Given the description of an element on the screen output the (x, y) to click on. 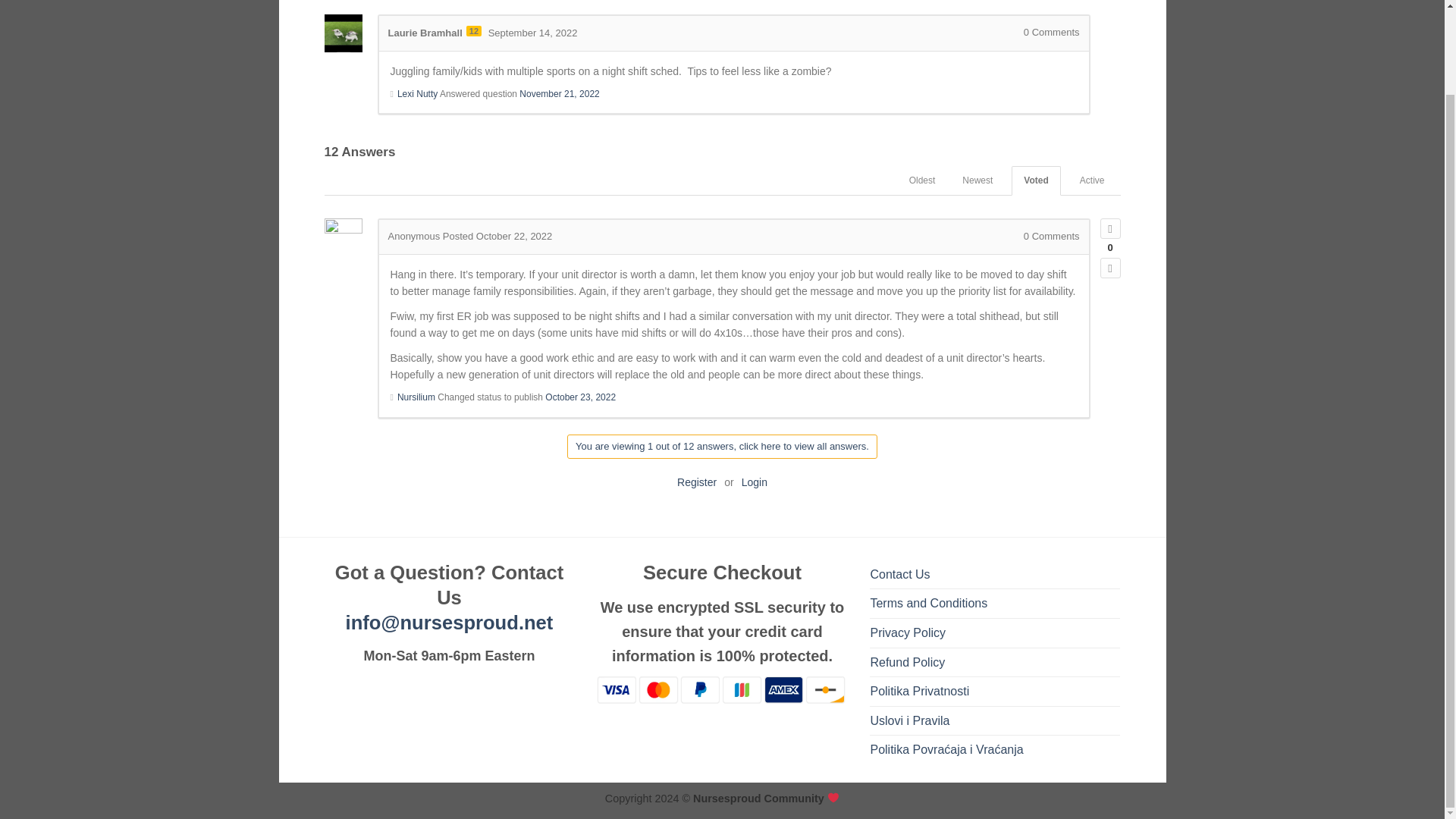
Reputation (473, 30)
Nursilium (416, 397)
Lexi Nutty (417, 93)
October 23, 2022 (579, 397)
12 (473, 30)
Login (754, 481)
November 21, 2022 (558, 93)
Laurie Bramhall (425, 32)
Posted October 22, 2022 (497, 235)
September 14, 2022 (532, 32)
Register (696, 481)
